Given the description of an element on the screen output the (x, y) to click on. 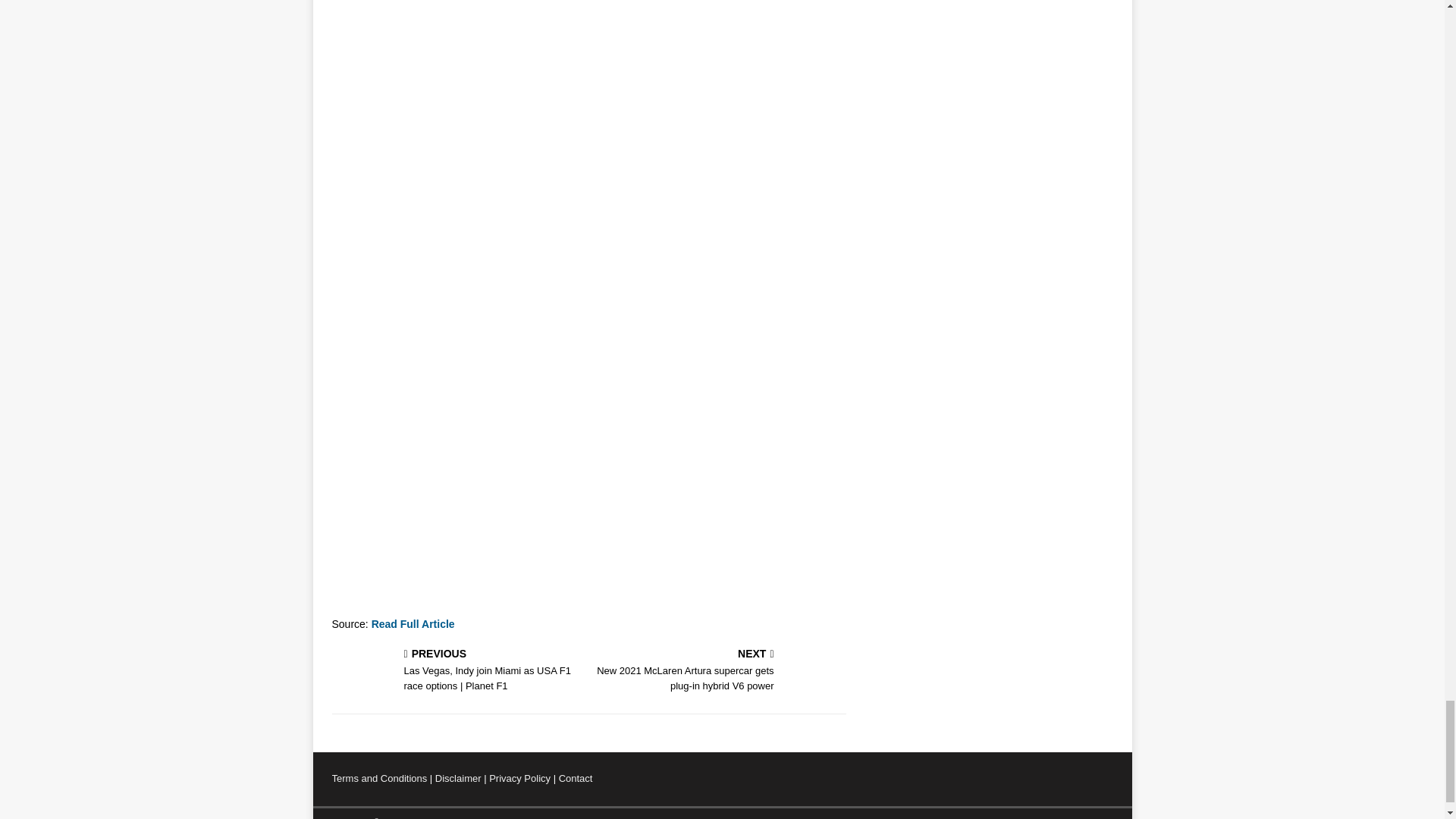
Read Full Article (412, 623)
